Given the description of an element on the screen output the (x, y) to click on. 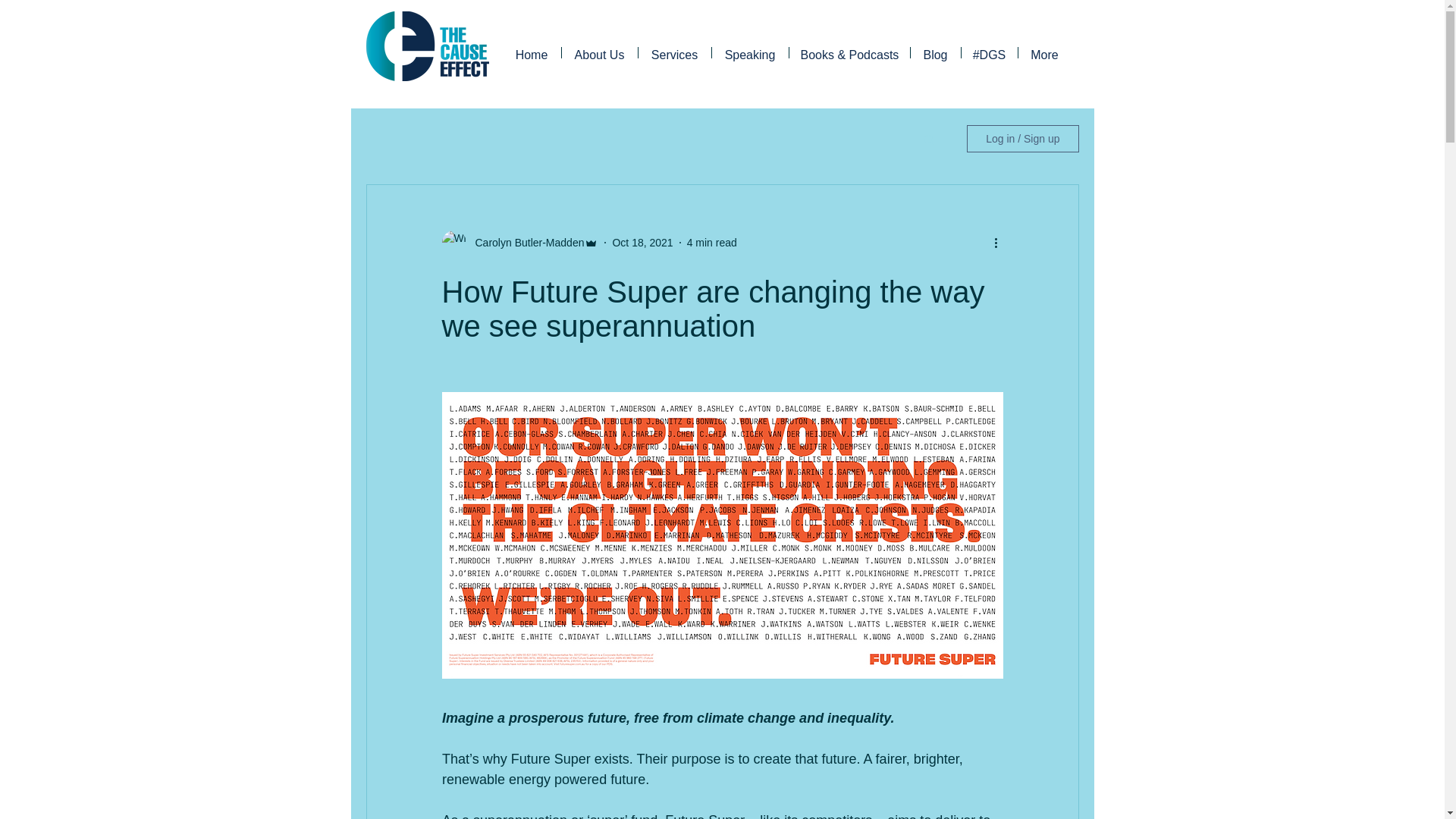
Carolyn Butler-Madden (524, 242)
Blog (934, 52)
Oct 18, 2021 (641, 242)
Home (531, 52)
Speaking (749, 52)
About Us (598, 52)
4 min read (711, 242)
Services (675, 52)
